Given the description of an element on the screen output the (x, y) to click on. 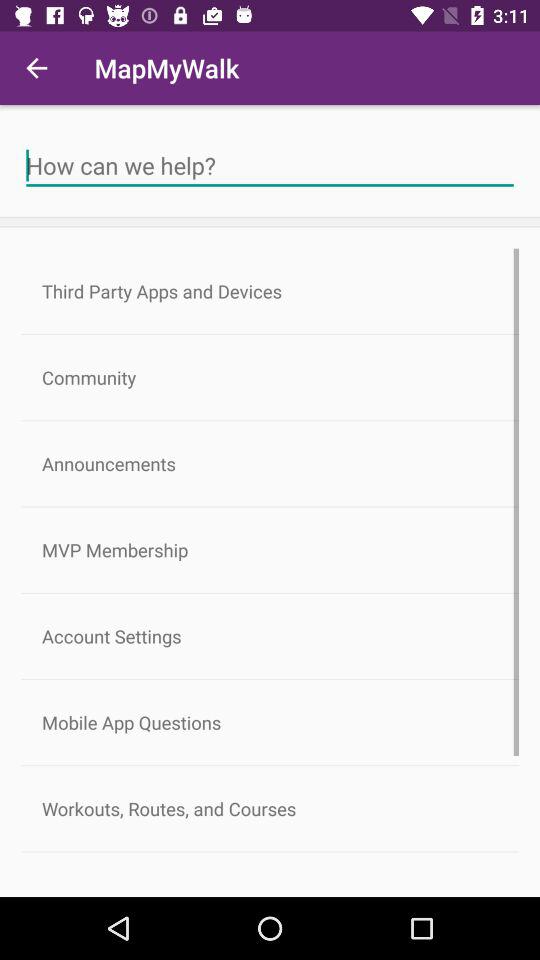
help (270, 165)
